Given the description of an element on the screen output the (x, y) to click on. 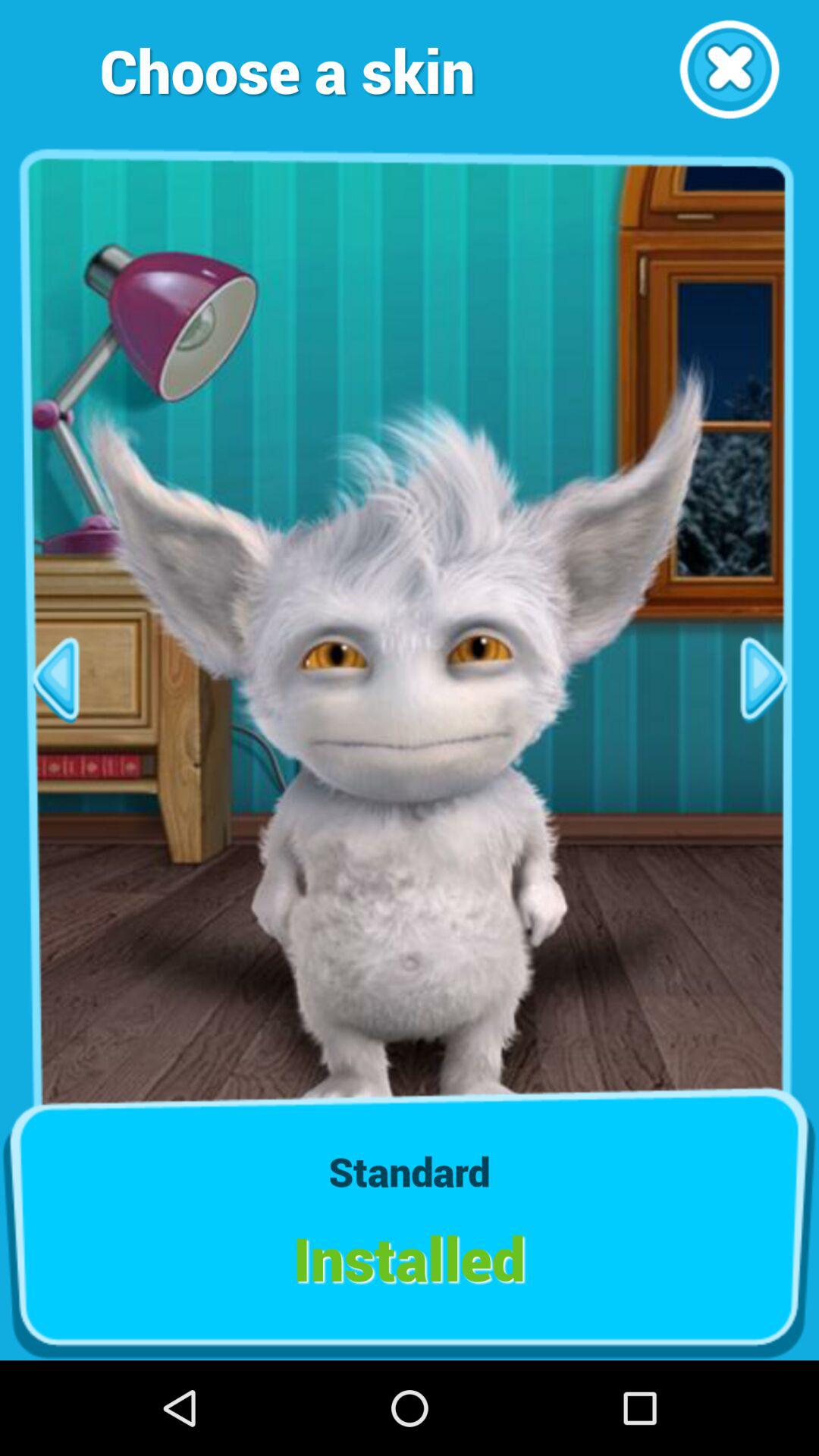
go to previous (55, 679)
